Given the description of an element on the screen output the (x, y) to click on. 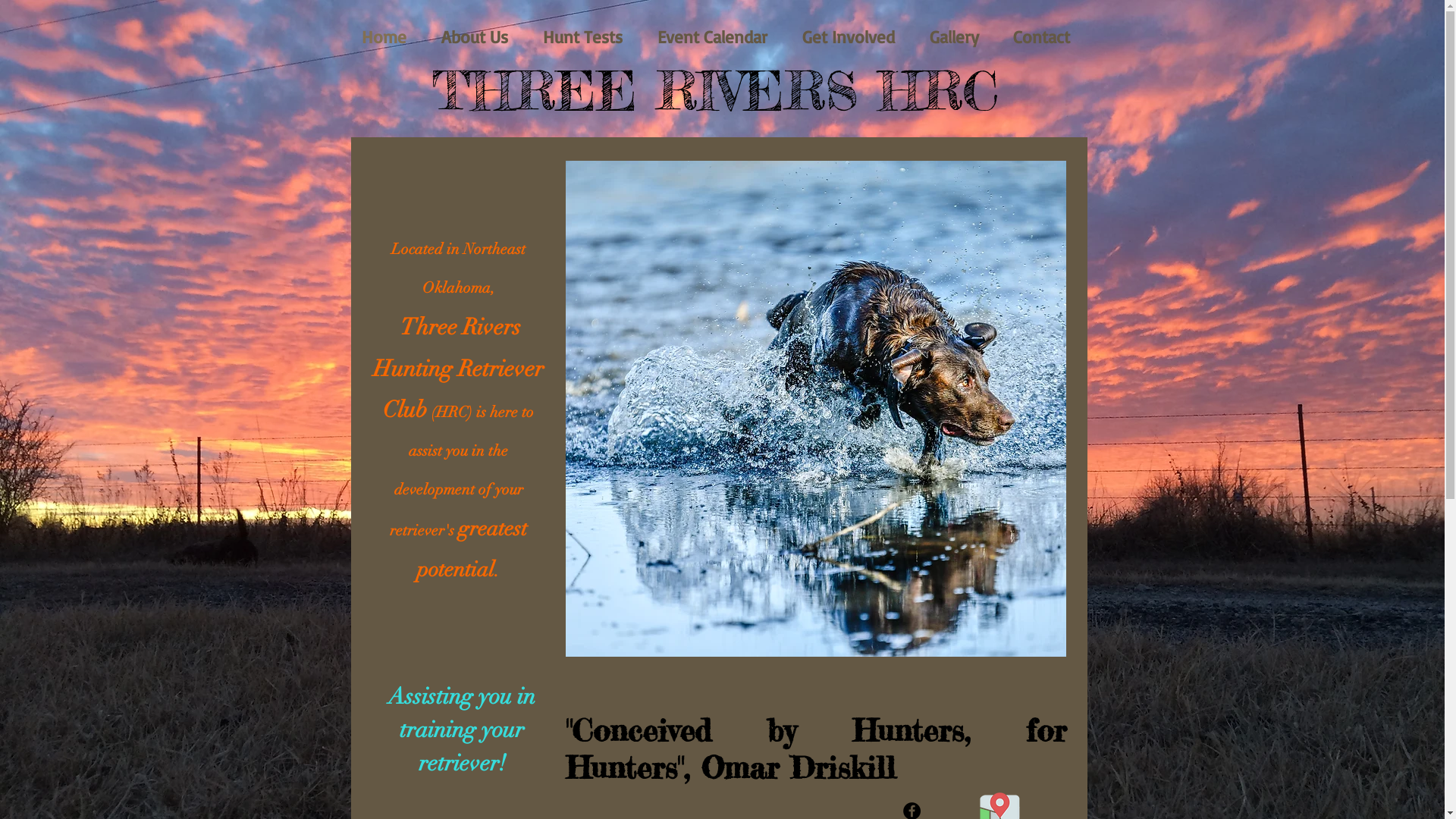
About Us Element type: text (473, 36)
Get Involved Element type: text (847, 36)
Hunt Tests Element type: text (581, 36)
Contact Element type: text (1041, 36)
Event Calendar Element type: text (712, 36)
Home Element type: text (383, 36)
Gallery Element type: text (953, 36)
